Given the description of an element on the screen output the (x, y) to click on. 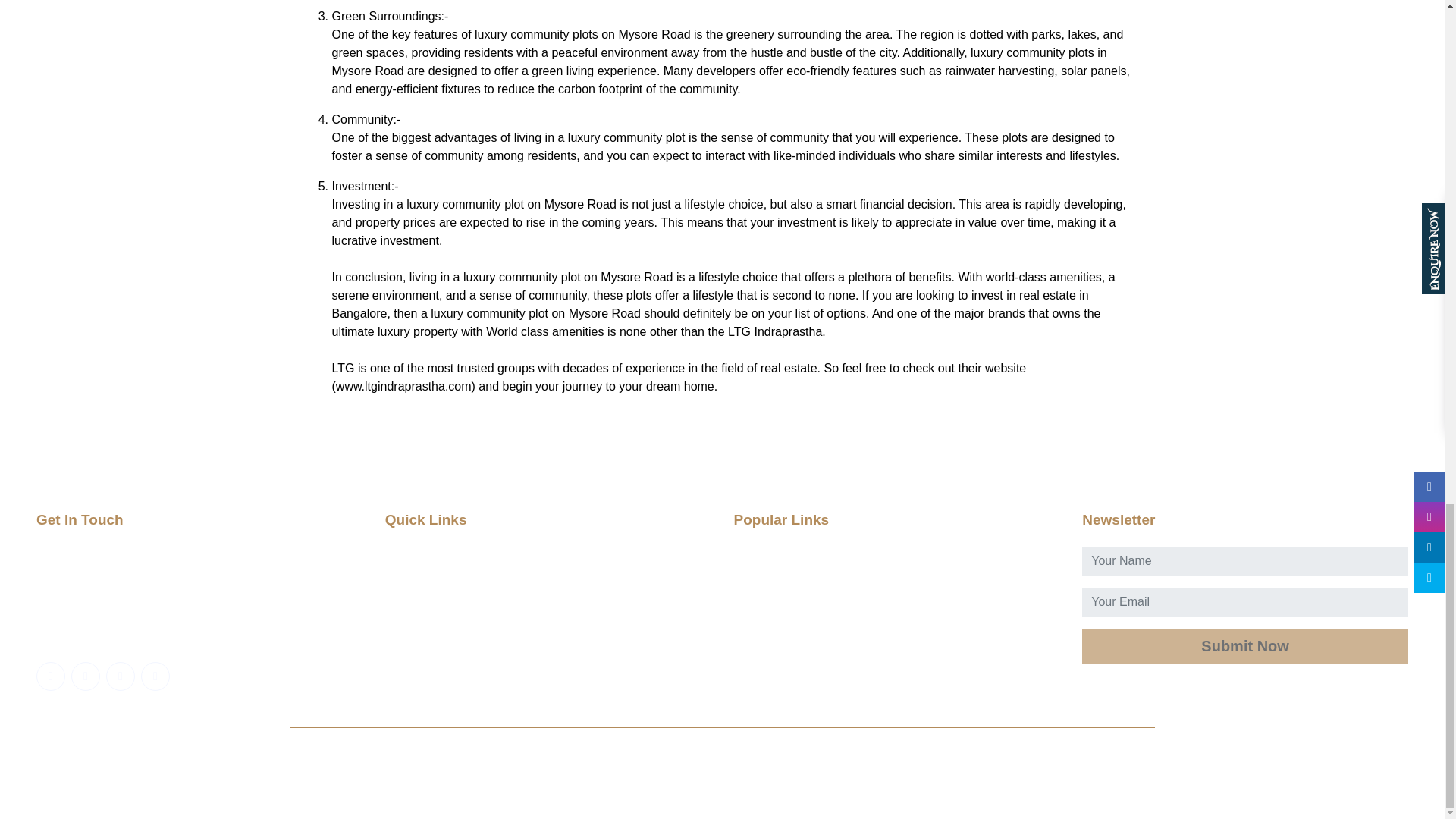
Contact (896, 604)
About Us (548, 579)
Submit Now (1244, 645)
Blog (896, 579)
89040 13344 (76, 603)
Amenities (896, 556)
2022 Indraprastha (592, 772)
Home (548, 556)
Krackerz (945, 772)
